Given the description of an element on the screen output the (x, y) to click on. 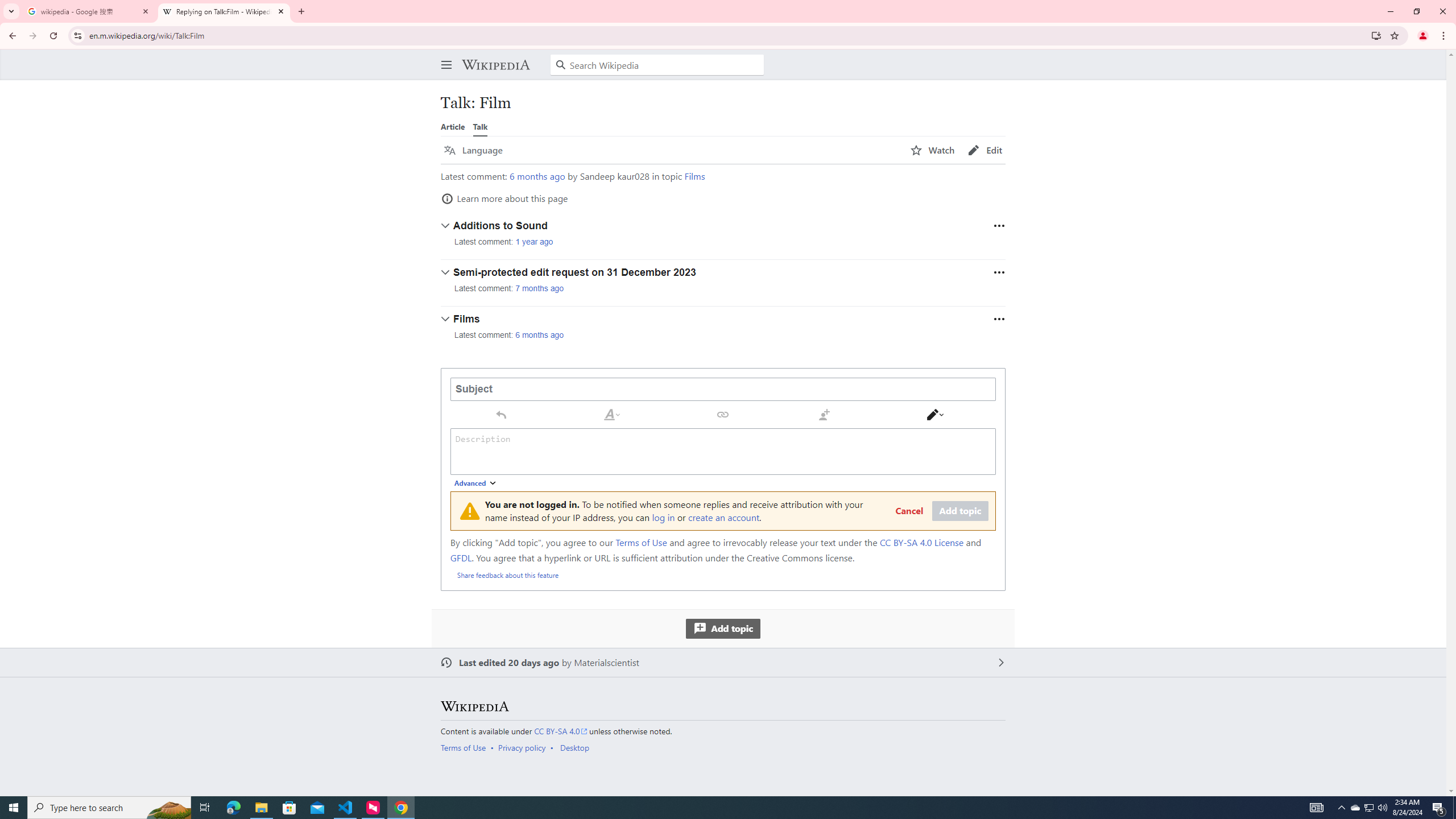
Undo Ctrl+Z (500, 414)
CC BY-SA 4.0 (561, 731)
log in (663, 517)
Wikipedia (495, 64)
Description (722, 451)
Films (694, 176)
Share feedback about this feature (508, 574)
AutomationID: language-selector (670, 150)
Style text (611, 414)
Install Wikipedia (1376, 35)
Terms of Use (462, 747)
Privacy policy (521, 747)
Mention a user (824, 414)
